Given the description of an element on the screen output the (x, y) to click on. 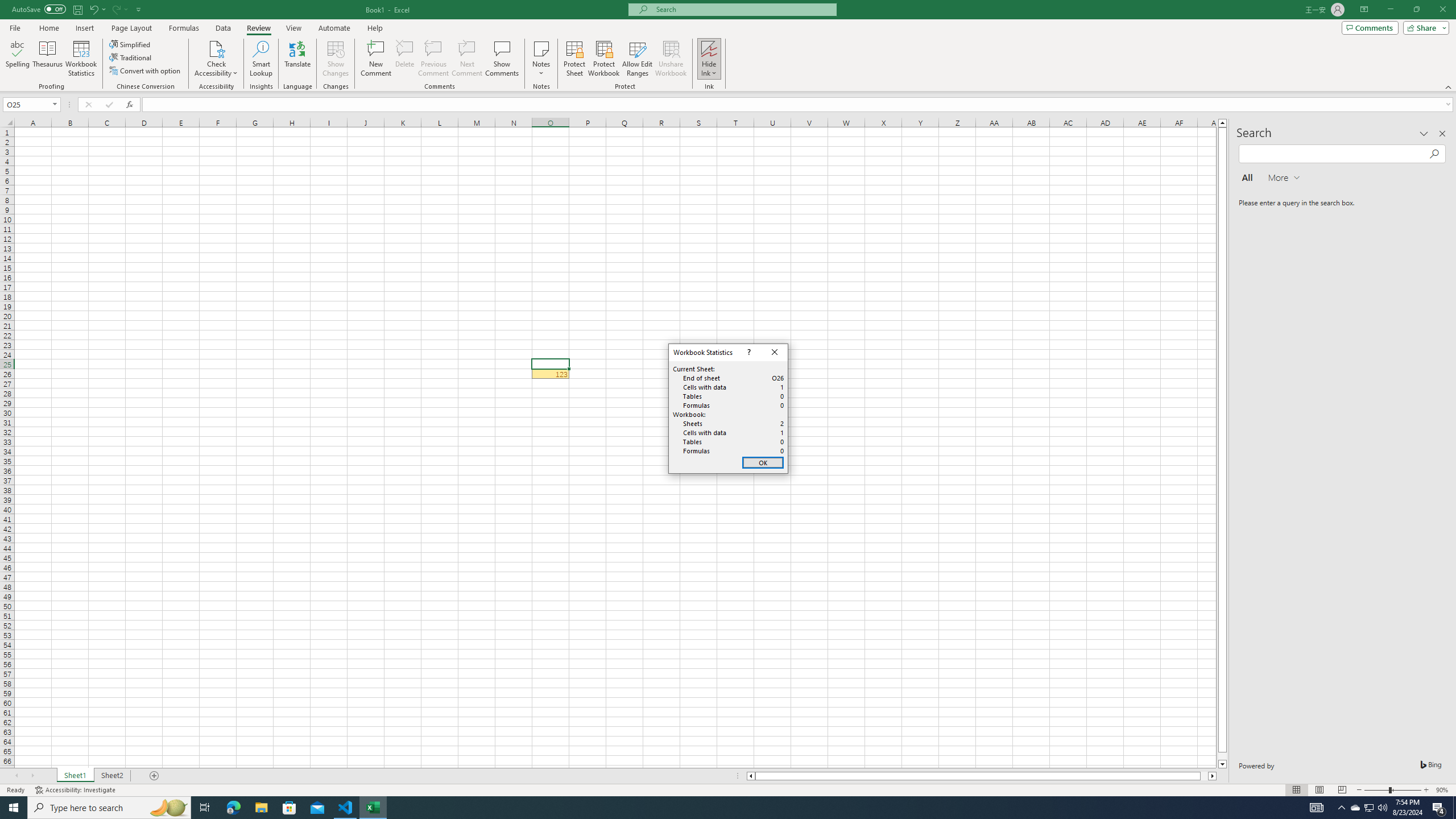
Zoom In (1426, 790)
View (293, 28)
Notification Chevron (1341, 807)
Check Accessibility (215, 48)
Q2790: 100% (1382, 807)
Redo (115, 9)
Notes (541, 58)
Close (774, 352)
System (6, 6)
Page right (1204, 775)
Translate (297, 58)
Scroll Right (32, 775)
Automate (334, 28)
Normal (1296, 790)
